Given the description of an element on the screen output the (x, y) to click on. 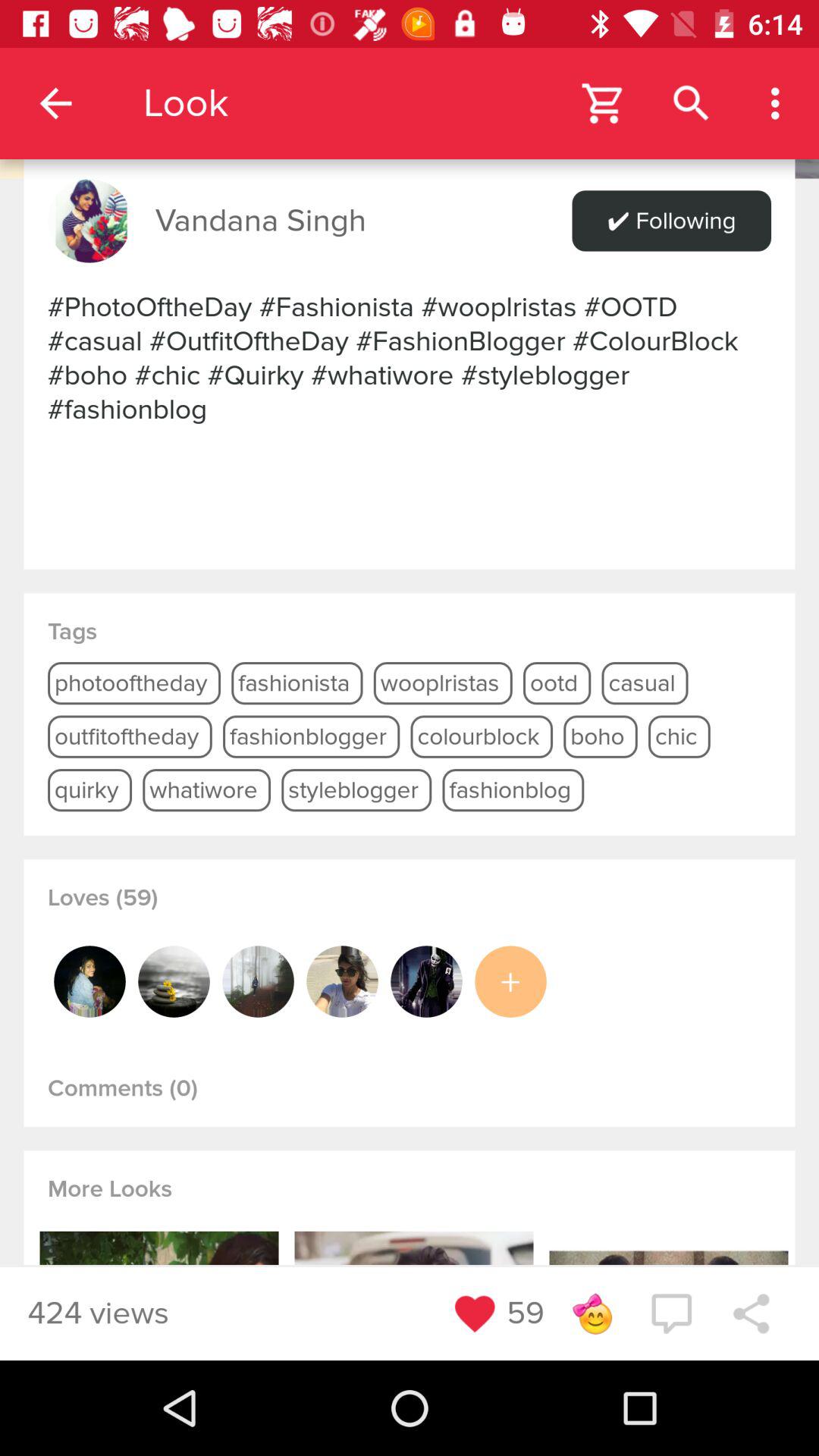
turn on the app to the left of the look (55, 103)
